Given the description of an element on the screen output the (x, y) to click on. 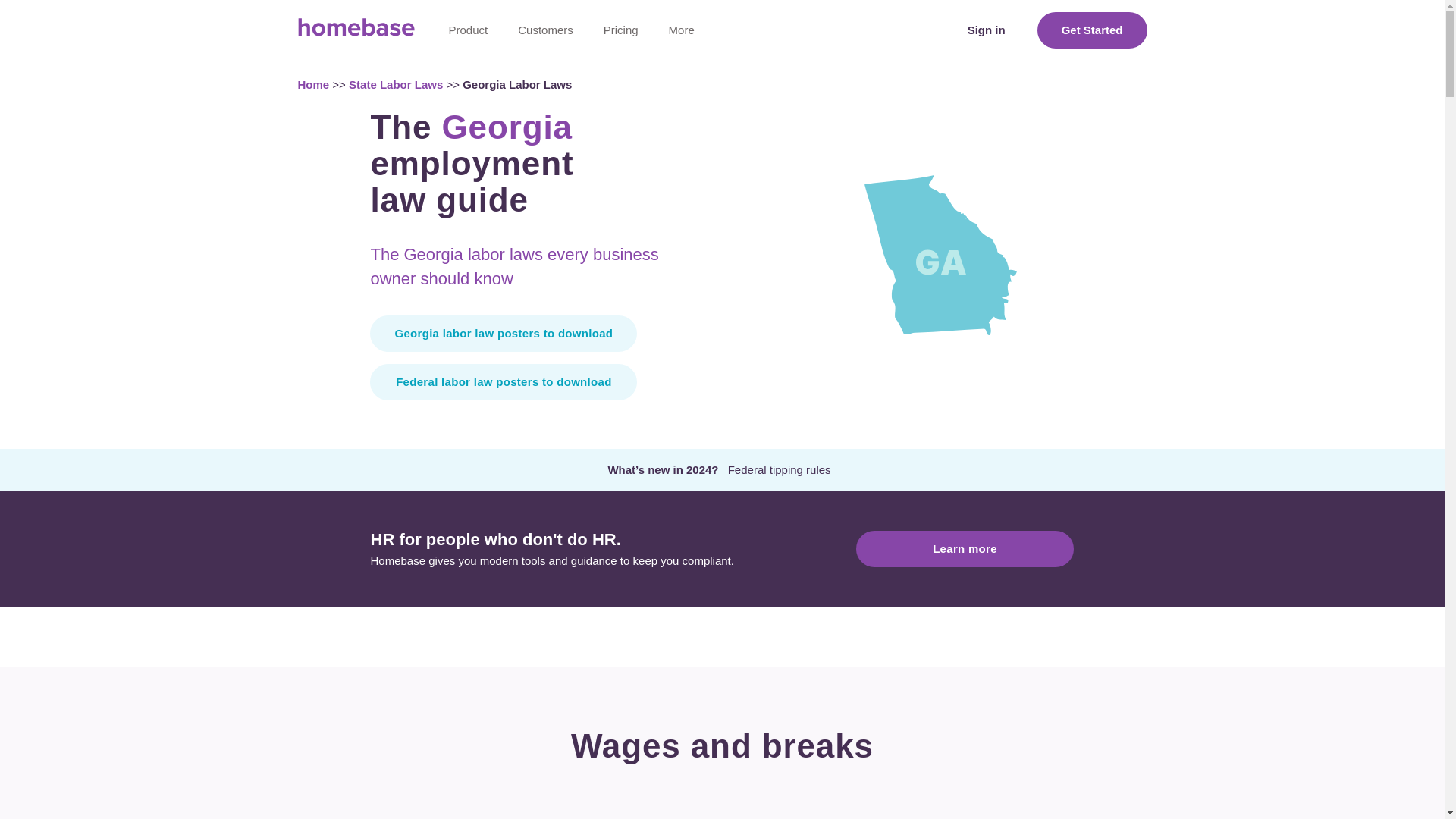
Integrations (527, 309)
Employee happiness (527, 249)
Product (468, 30)
Customers (545, 30)
Services (596, 218)
Federal labor law posters to download (503, 381)
Pricing (620, 30)
Contact sales (747, 67)
Get Started (1091, 30)
Scheduling (527, 67)
Sign in (986, 30)
Timesheets (527, 128)
Georgia labor law posters to download (503, 333)
Time clock (527, 97)
About Us (747, 158)
